Given the description of an element on the screen output the (x, y) to click on. 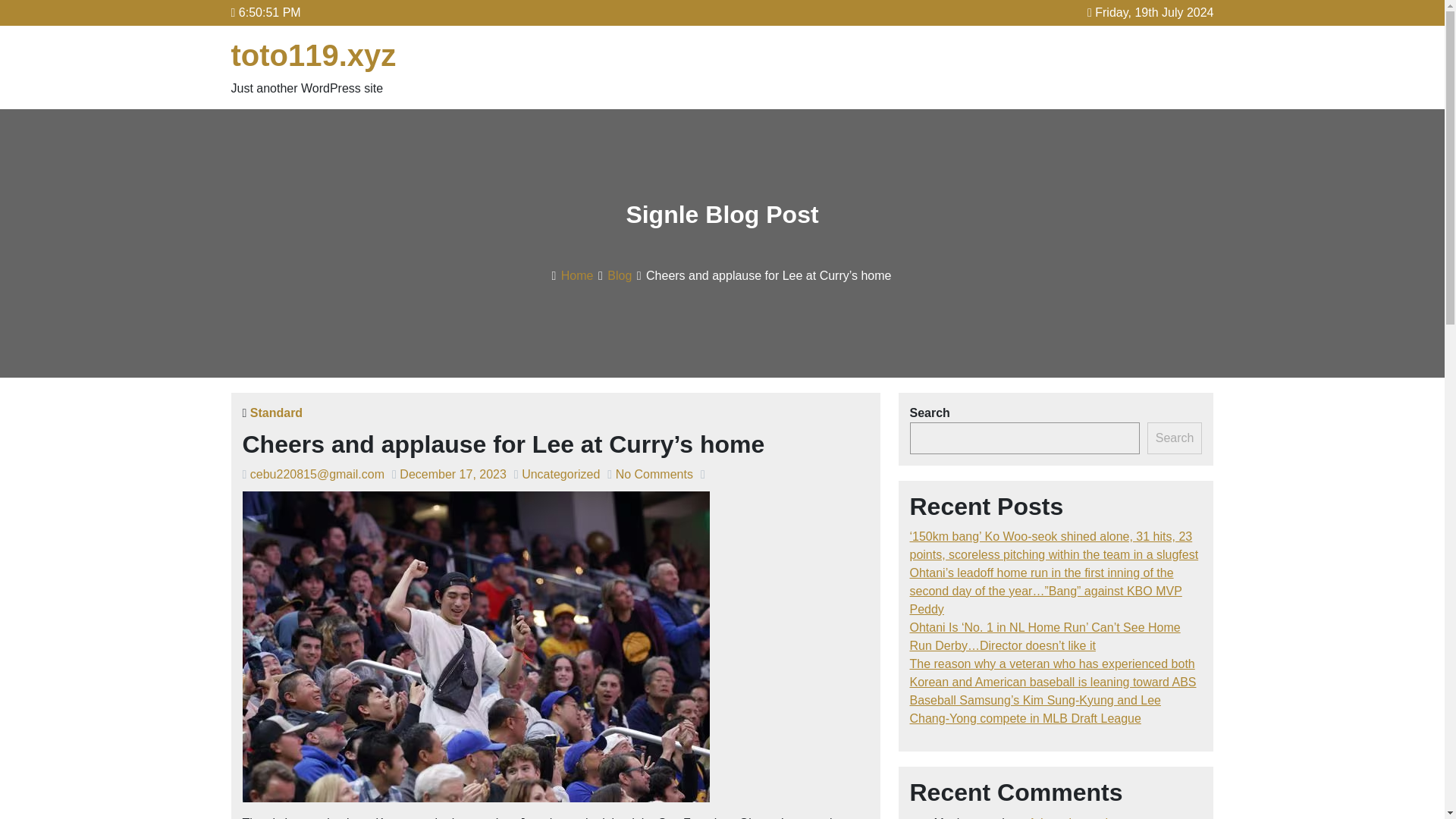
Uncategorized (560, 473)
No Comments (654, 473)
toto119.xyz (313, 55)
Blog (619, 275)
Search (1174, 438)
December 17, 2023 (452, 473)
Home (577, 275)
